Given the description of an element on the screen output the (x, y) to click on. 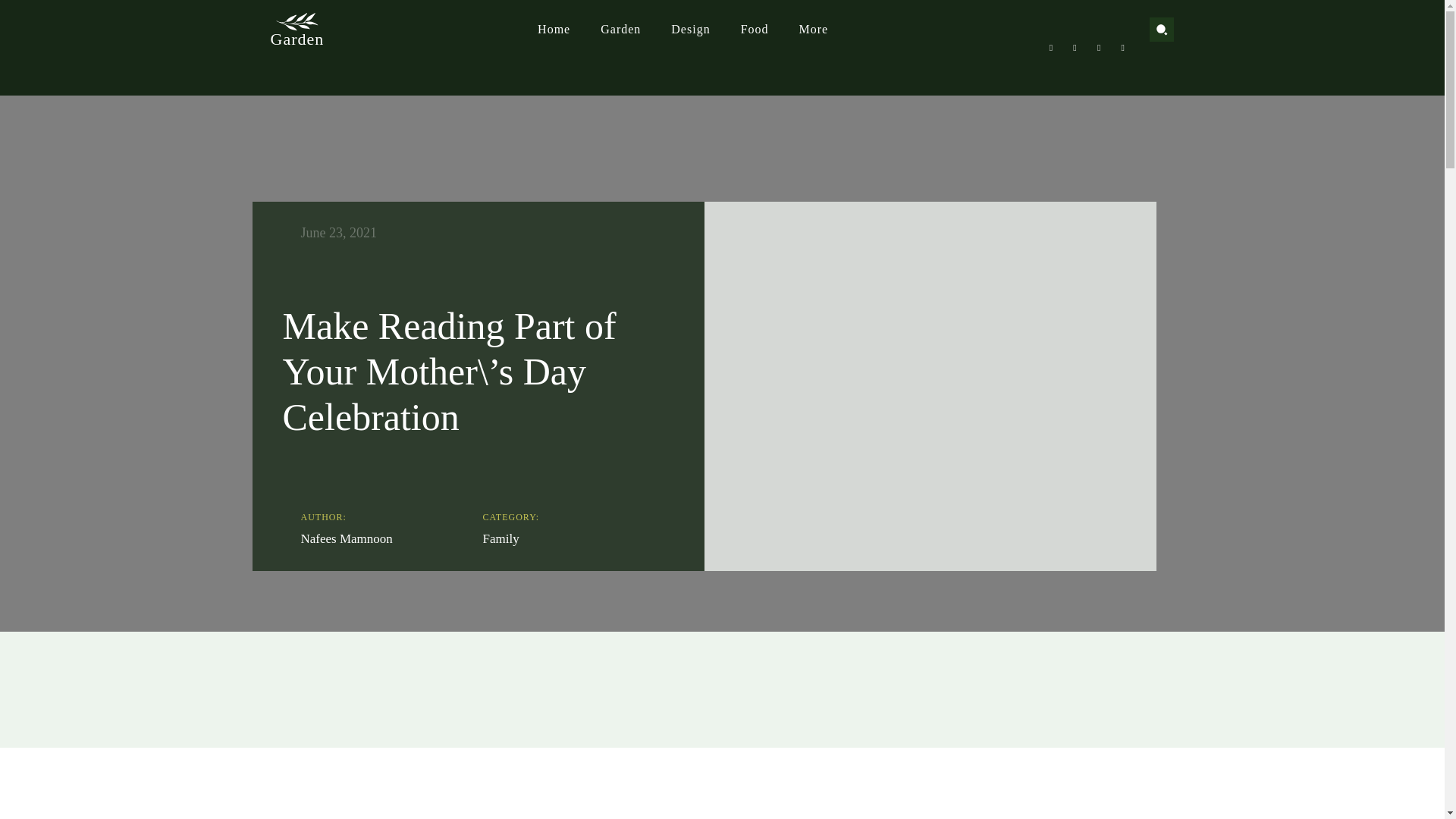
Garden (620, 29)
Home (552, 29)
Design (689, 29)
Garden (296, 27)
